Given the description of an element on the screen output the (x, y) to click on. 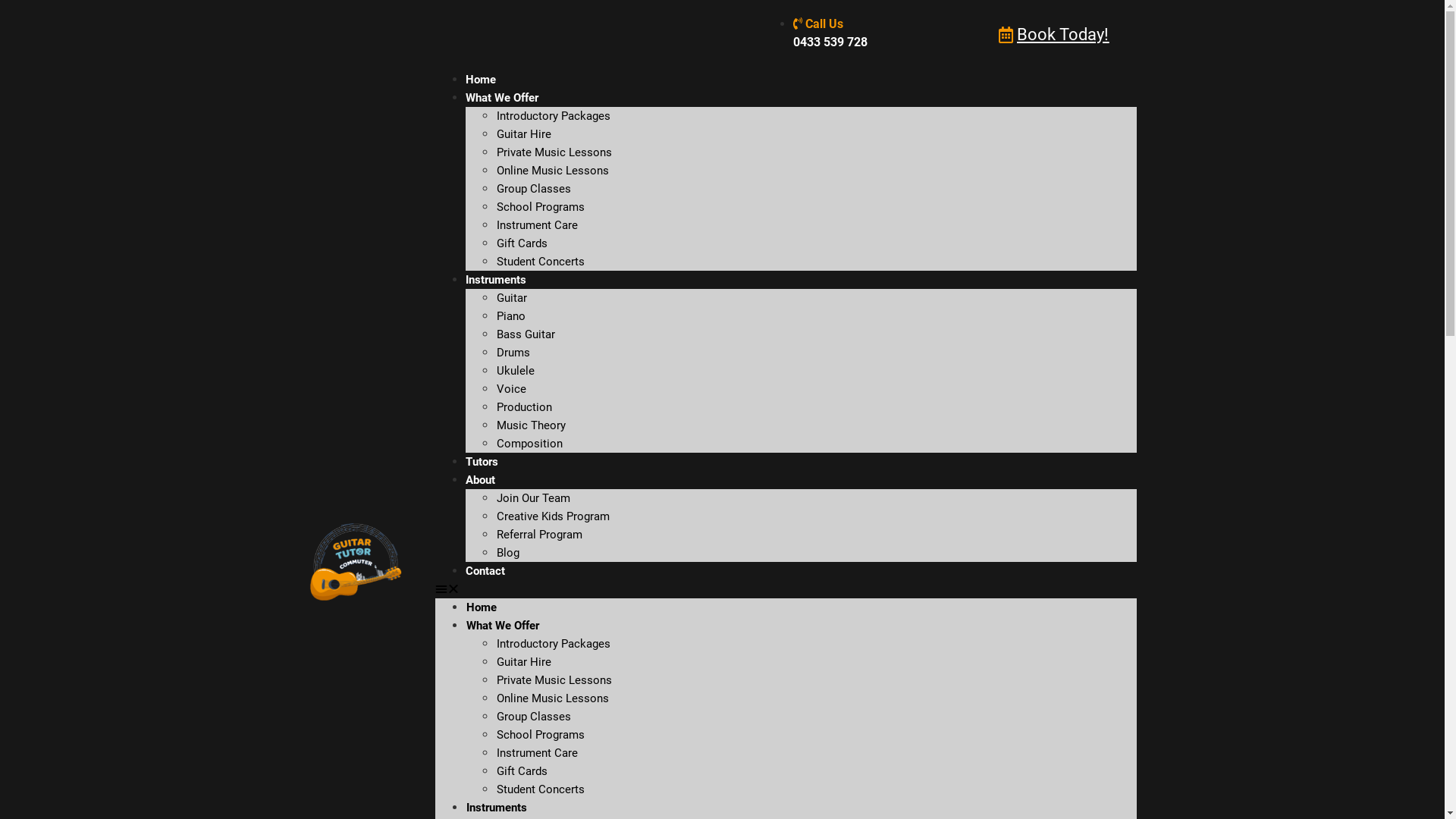
Group Classes Element type: text (533, 188)
Piano Element type: text (510, 316)
Join Our Team Element type: text (533, 498)
Private Music Lessons Element type: text (553, 680)
Call Us
0433 539 728 Element type: text (830, 32)
Guitar Hire Element type: text (523, 661)
Instrument Care Element type: text (536, 225)
Student Concerts Element type: text (540, 261)
Blog Element type: text (507, 552)
Gift Cards Element type: text (521, 243)
School Programs Element type: text (540, 734)
Instruments Element type: text (495, 279)
Gift Cards Element type: text (521, 771)
Introductory Packages Element type: text (553, 643)
Guitar Hire Element type: text (523, 134)
Instruments Element type: text (496, 807)
Introductory Packages Element type: text (553, 115)
Composition Element type: text (529, 443)
Voice Element type: text (511, 388)
Student Concerts Element type: text (540, 789)
Creative Kids Program Element type: text (552, 516)
Group Classes Element type: text (533, 716)
Referral Program Element type: text (539, 534)
About Element type: text (480, 479)
Drums Element type: text (512, 352)
Tutors Element type: text (481, 461)
Guitar Element type: text (511, 297)
Home Element type: text (481, 607)
Book Today! Element type: text (1053, 35)
What We Offer Element type: text (501, 97)
Instrument Care Element type: text (536, 752)
School Programs Element type: text (540, 206)
Home Element type: text (480, 79)
Private Music Lessons Element type: text (553, 152)
Production Element type: text (523, 407)
Online Music Lessons Element type: text (552, 698)
Contact Element type: text (485, 570)
Music Theory Element type: text (530, 425)
Bass Guitar Element type: text (525, 334)
Online Music Lessons Element type: text (552, 170)
Ukulele Element type: text (515, 370)
What We Offer Element type: text (502, 625)
